Given the description of an element on the screen output the (x, y) to click on. 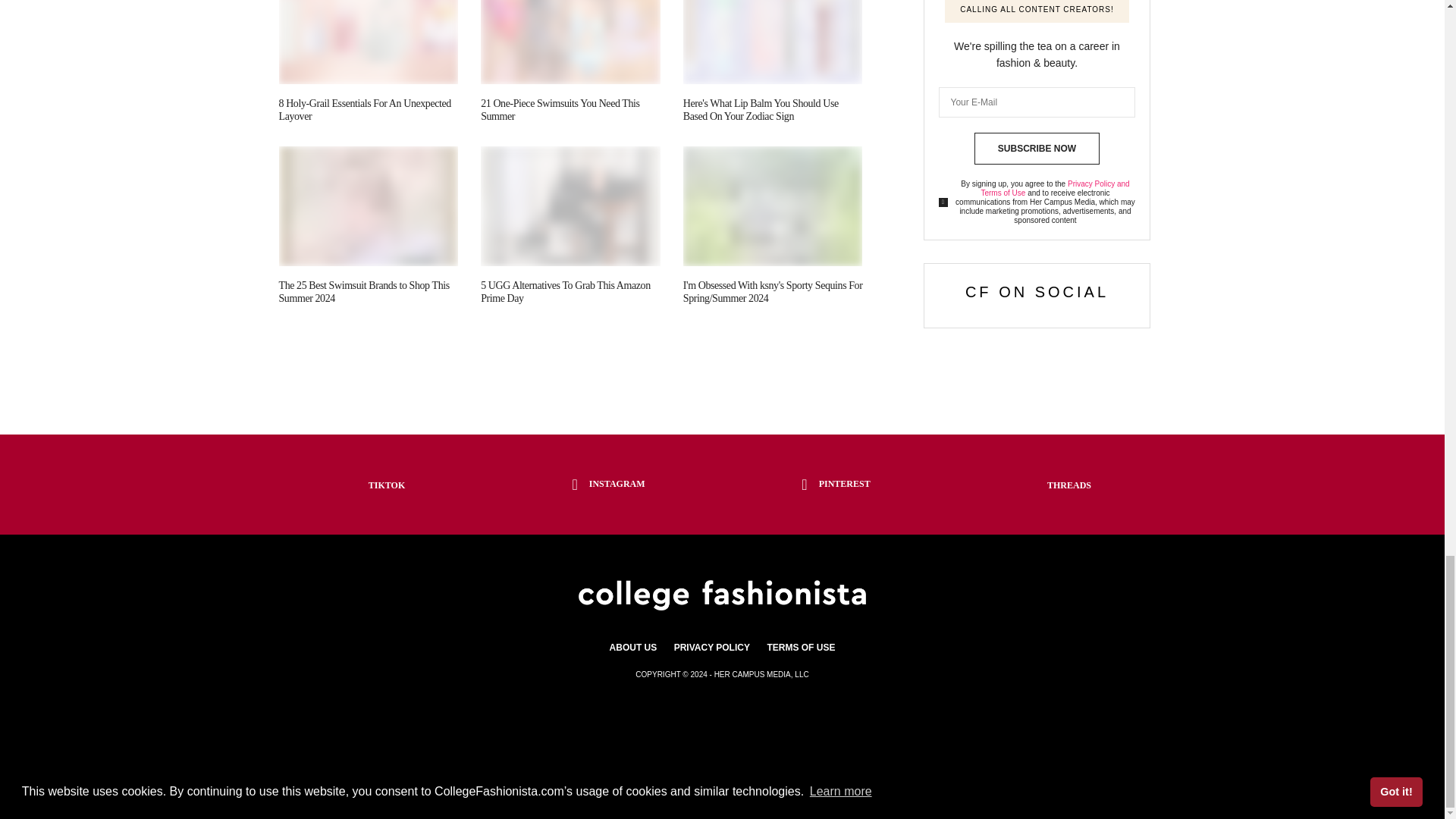
8 Holy-Grail Essentials For An Unexpected Layover (365, 109)
8 Holy-Grail Essentials For An Unexpected Layover 4 (368, 42)
